Given the description of an element on the screen output the (x, y) to click on. 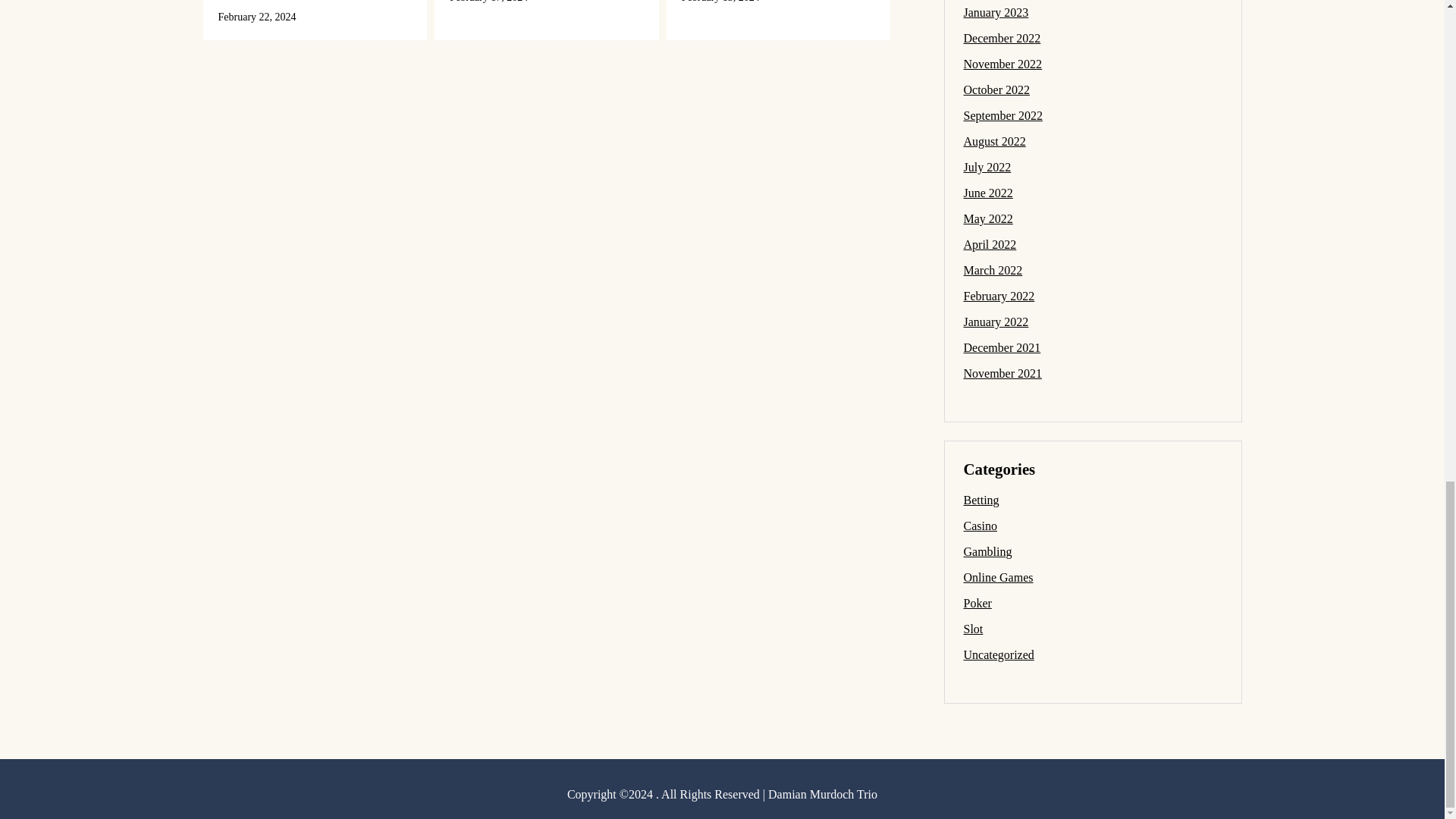
February 17, 2024 (488, 1)
February 13, 2024 (720, 1)
February 22, 2024 (257, 16)
